Given the description of an element on the screen output the (x, y) to click on. 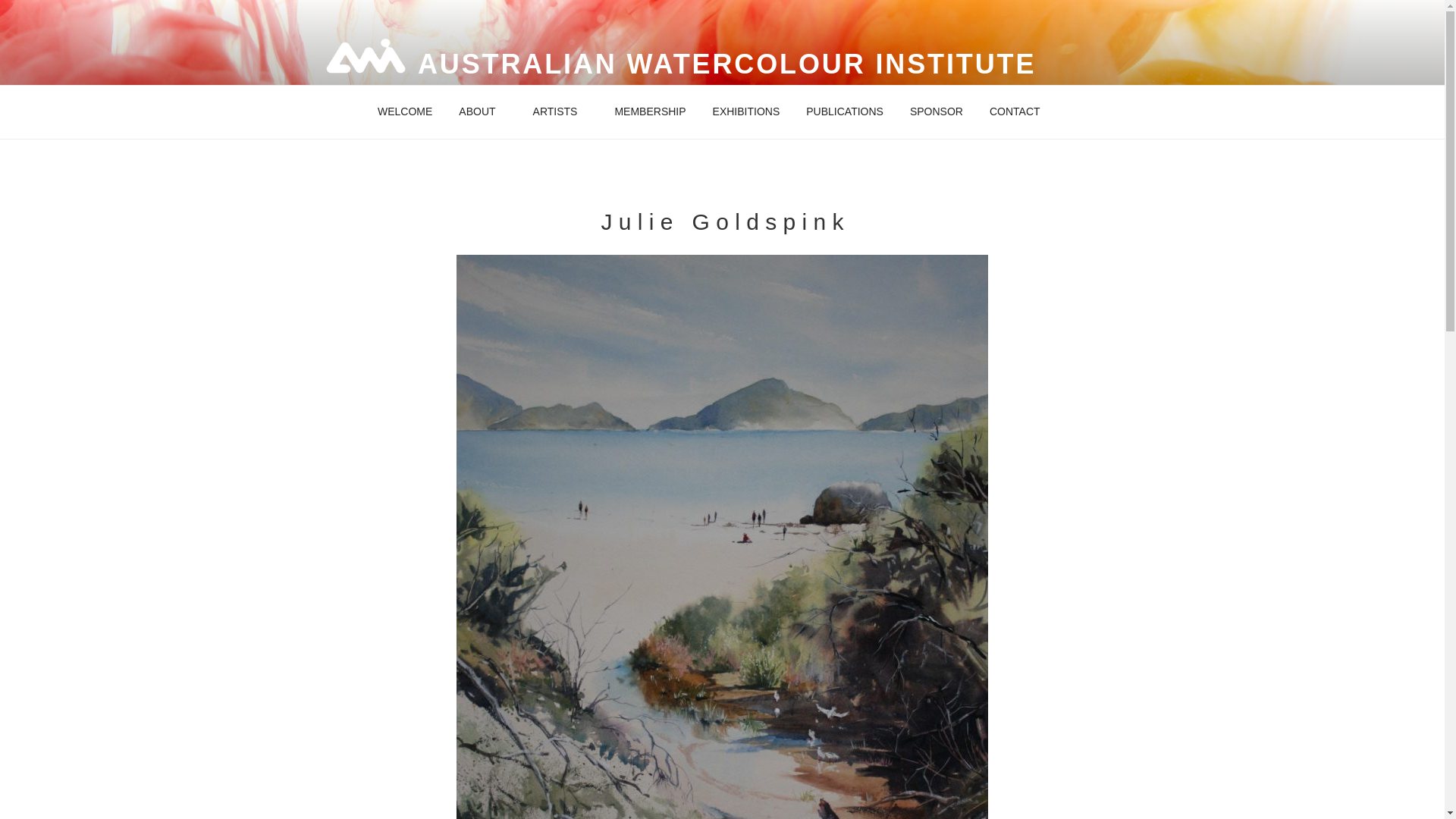
CONTACT (1013, 111)
ARTISTS (560, 111)
AUSTRALIAN WATERCOLOUR INSTITUTE (726, 63)
ABOUT (482, 111)
PUBLICATIONS (844, 111)
MEMBERSHIP (649, 111)
EXHIBITIONS (745, 111)
SPONSOR (935, 111)
WELCOME (404, 111)
